Given the description of an element on the screen output the (x, y) to click on. 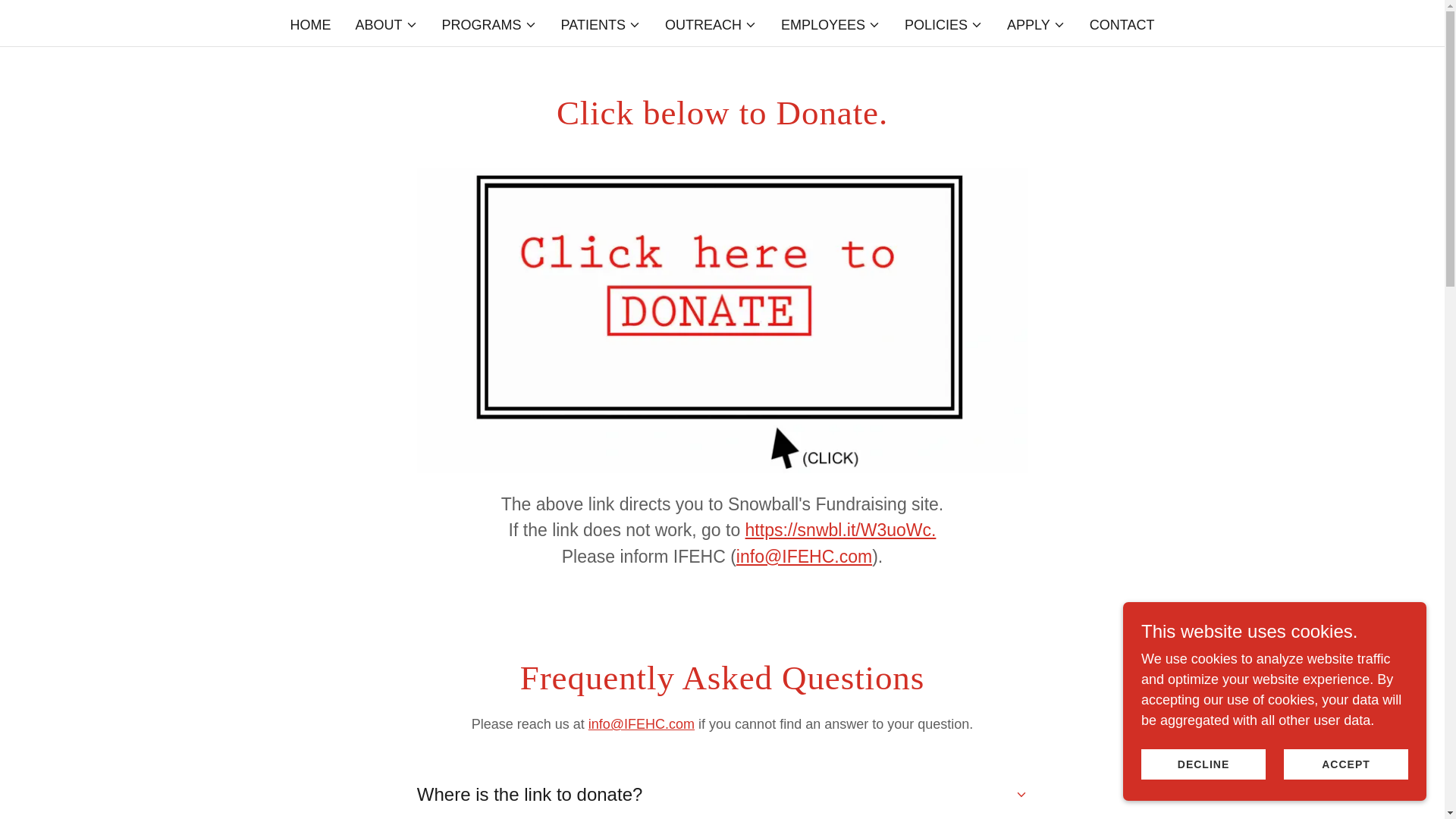
PROGRAMS (489, 24)
HOME (310, 24)
PATIENTS (600, 24)
APPLY (1036, 24)
POLICIES (943, 24)
OUTREACH (711, 24)
EMPLOYEES (830, 24)
ABOUT (386, 24)
